Given the description of an element on the screen output the (x, y) to click on. 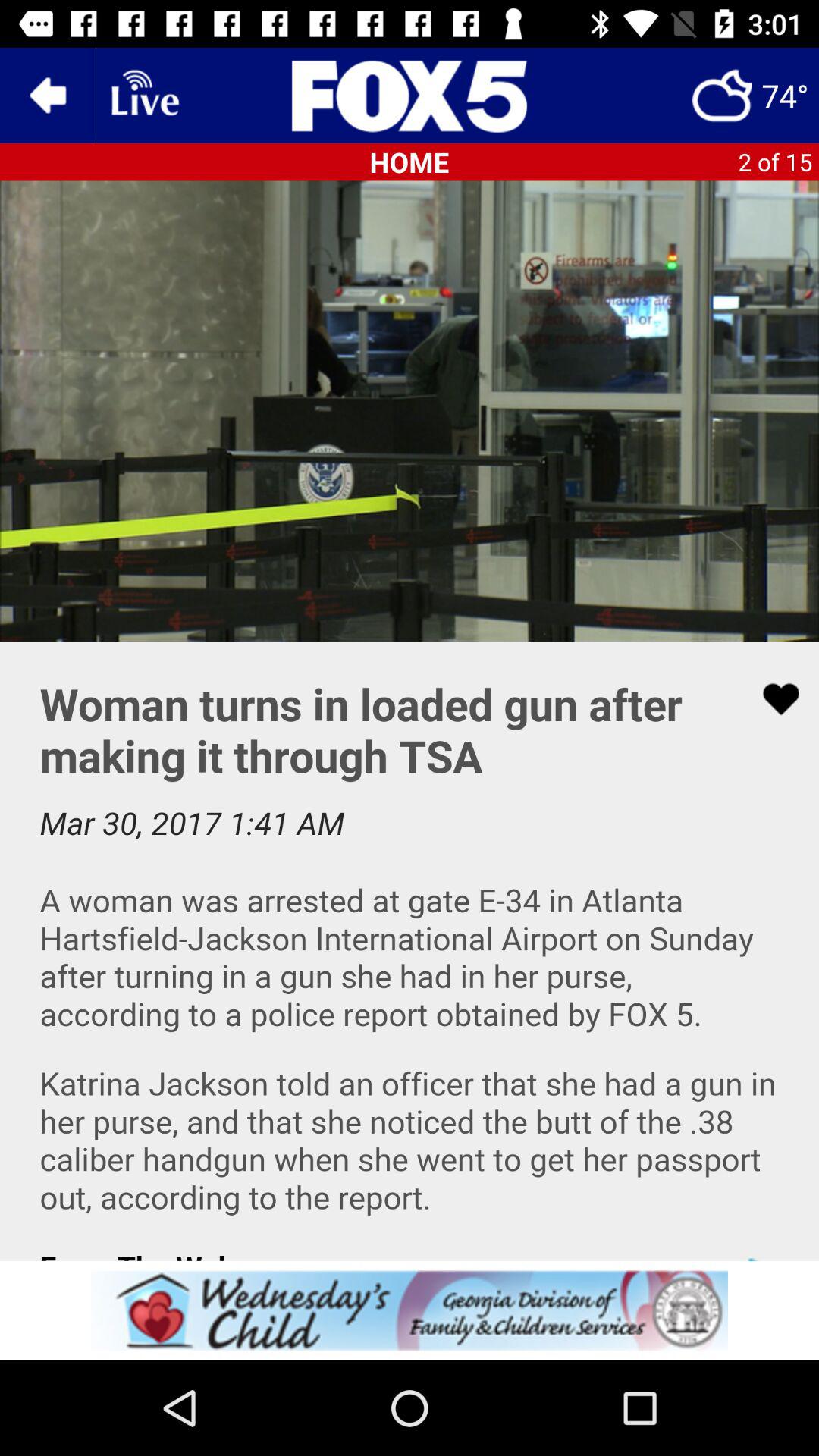
go to link in advertisement (409, 1310)
